Given the description of an element on the screen output the (x, y) to click on. 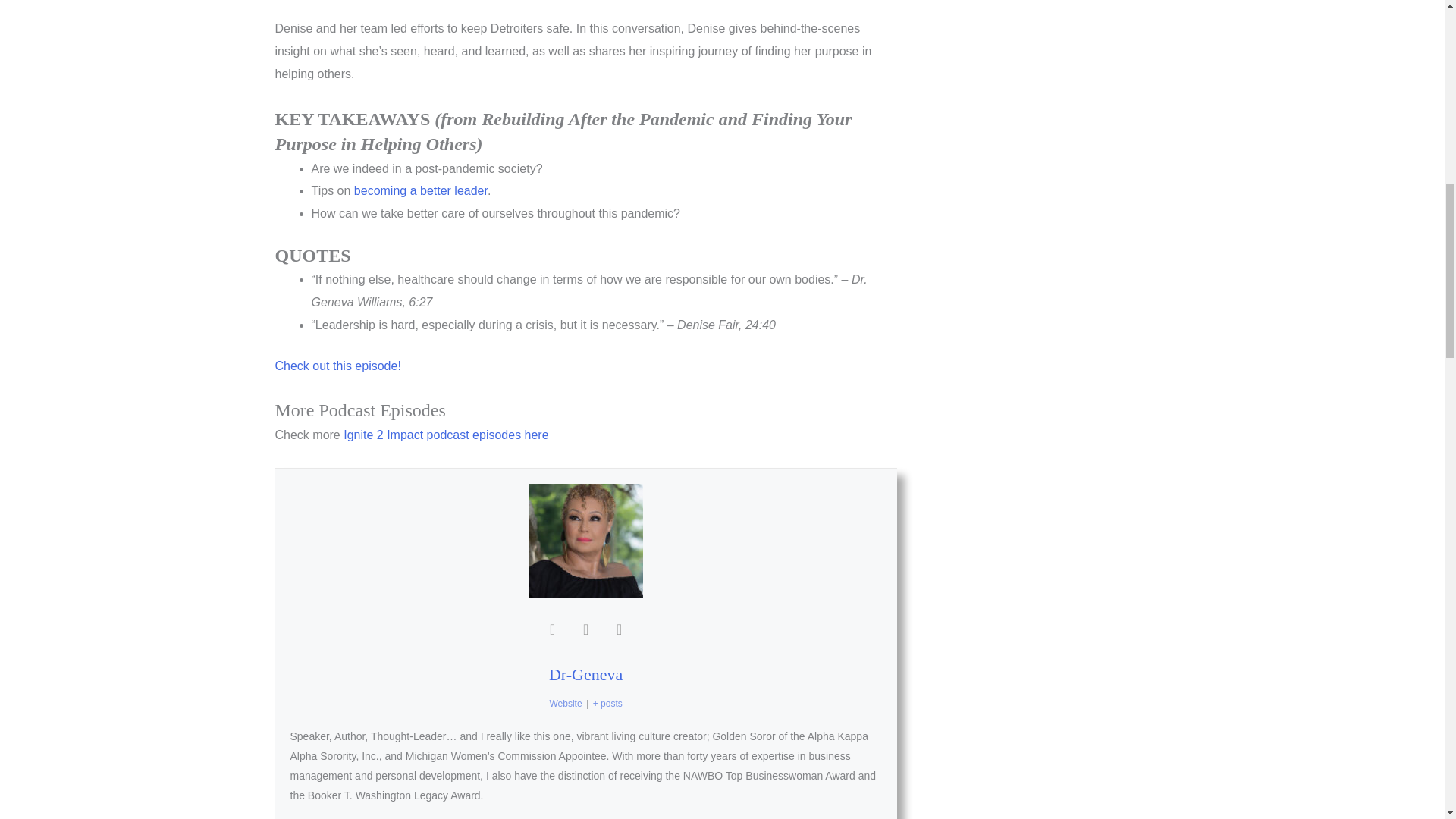
Website (564, 703)
Ignite 2 Impact podcast episodes here (445, 434)
becoming a better leader (420, 190)
Dr-Geneva (585, 674)
Check out this episode! (337, 365)
